Given the description of an element on the screen output the (x, y) to click on. 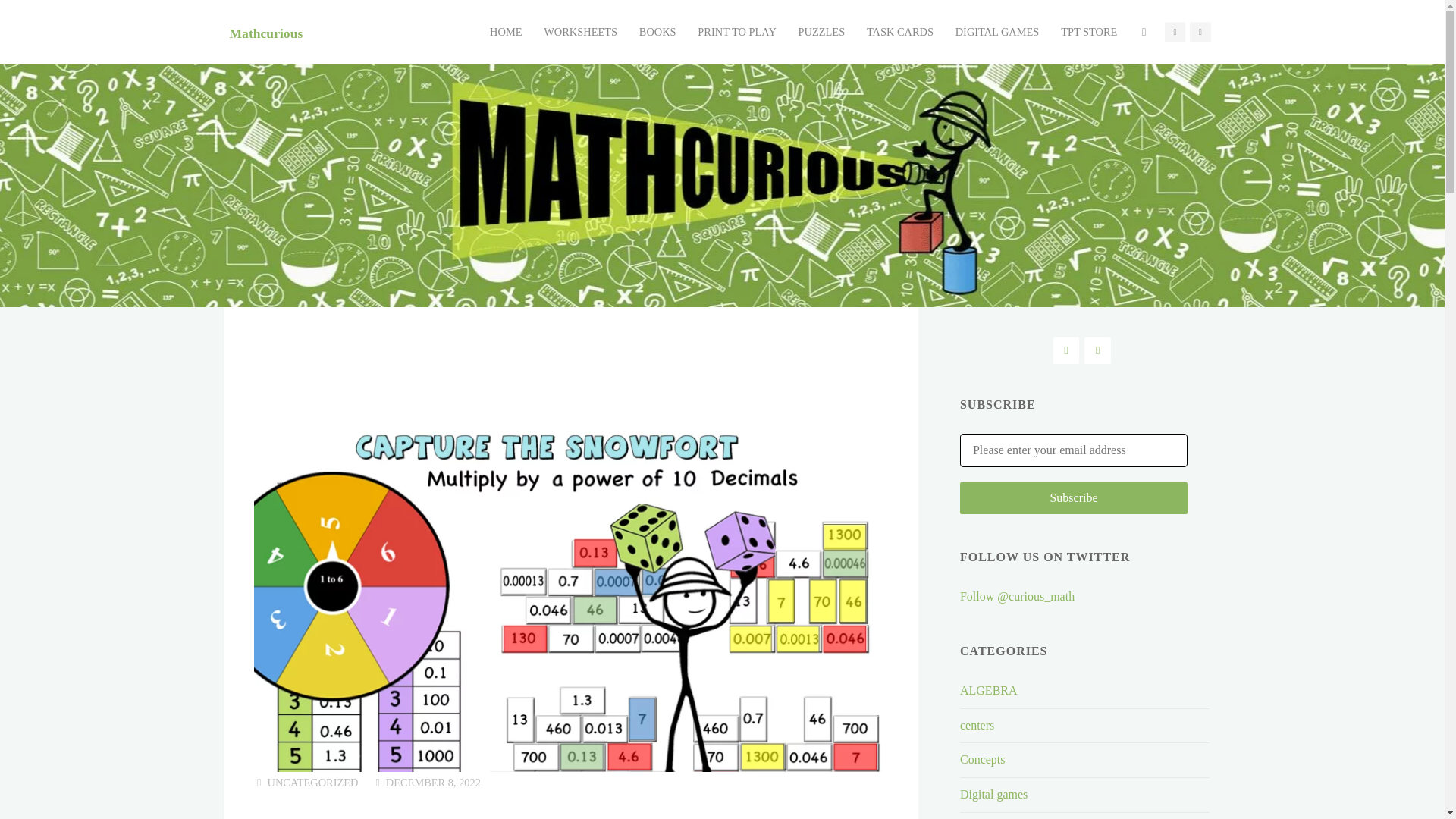
BOOKS (657, 32)
TPT STORE (1088, 32)
WORKSHEETS (580, 32)
Tritter (1065, 350)
Facebook (1200, 32)
PUZZLES (821, 32)
Facebook (1097, 350)
Subscribe (1073, 498)
Tritter (1175, 32)
TASK CARDS (900, 32)
